Given the description of an element on the screen output the (x, y) to click on. 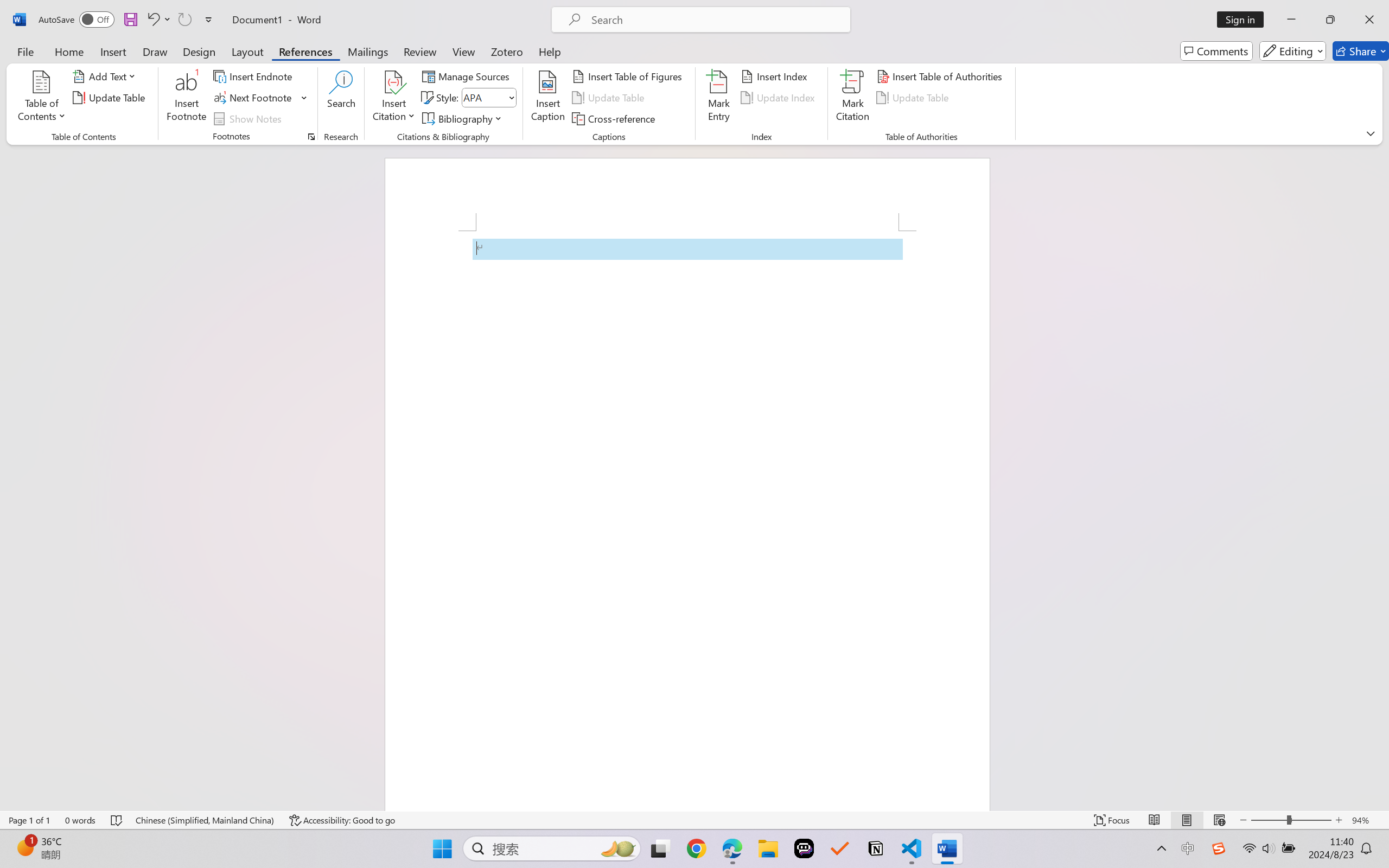
Update Table... (110, 97)
